Given the description of an element on the screen output the (x, y) to click on. 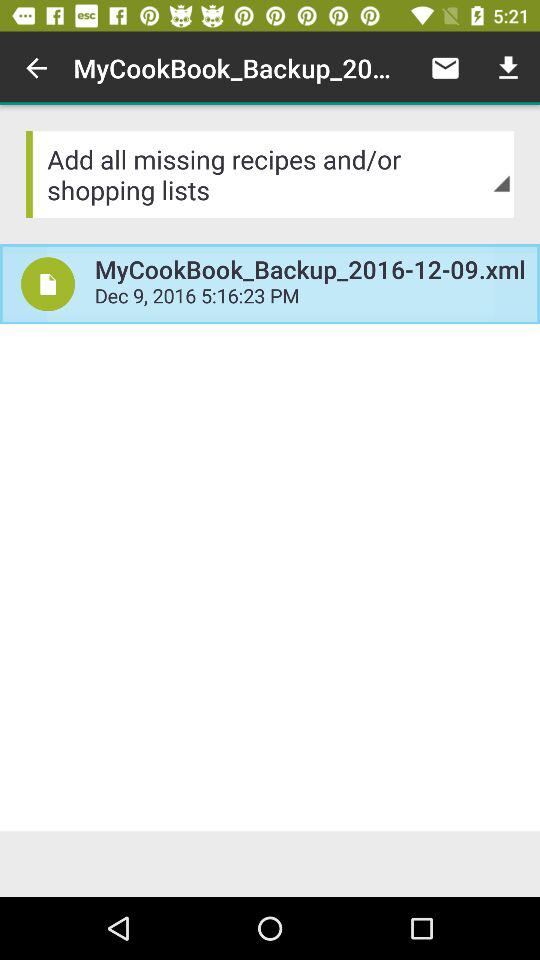
open icon above the add all missing (36, 67)
